Given the description of an element on the screen output the (x, y) to click on. 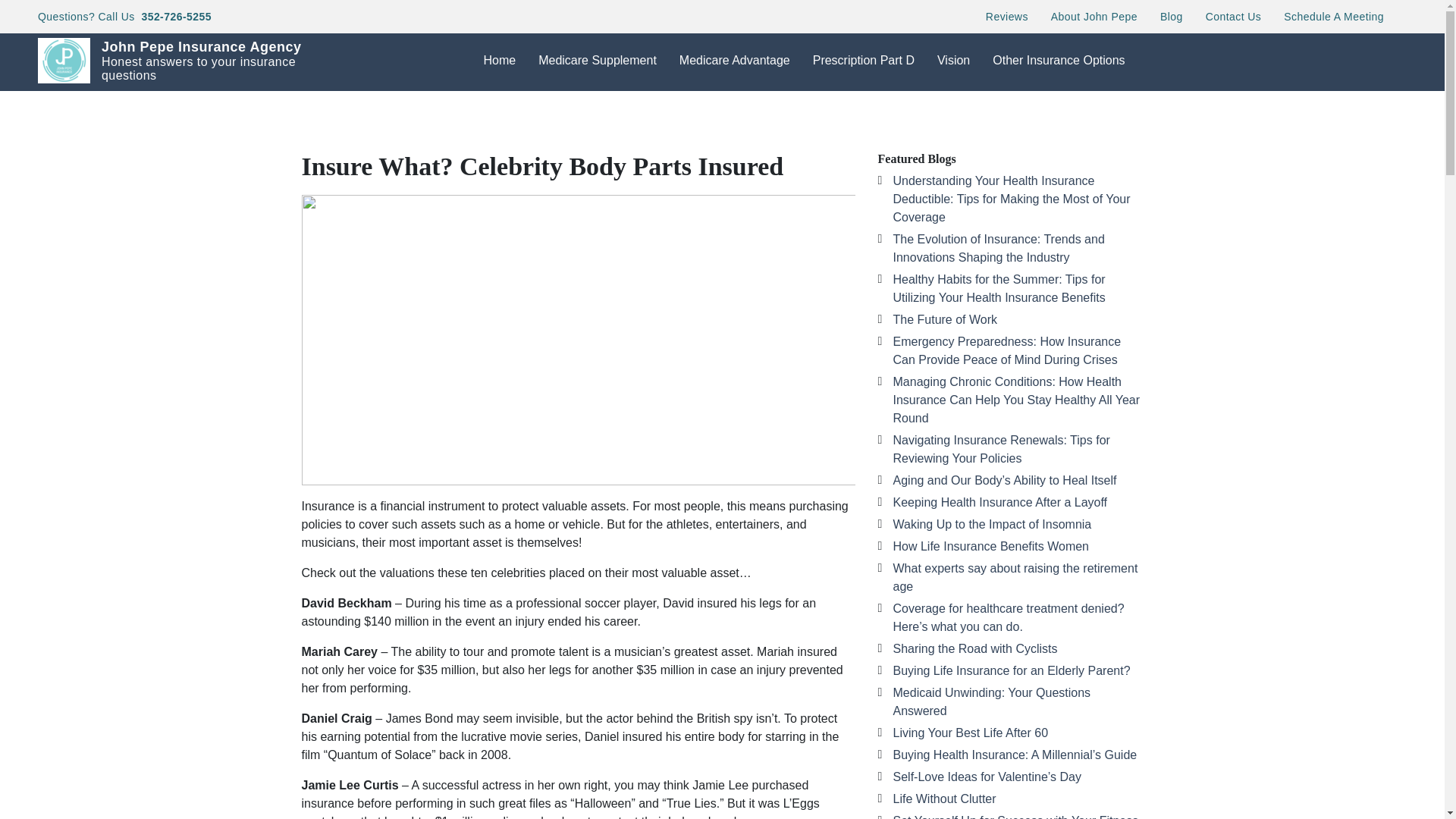
Schedule A Meeting (1333, 16)
Medicare Supplement (597, 60)
Blog (1170, 16)
Part D Prescription Drug Plans (877, 102)
Vision Insurance: Is It Right For You (1001, 102)
Reviews (1006, 16)
Different Types of Medicare Advantage Plans (743, 111)
